Given the description of an element on the screen output the (x, y) to click on. 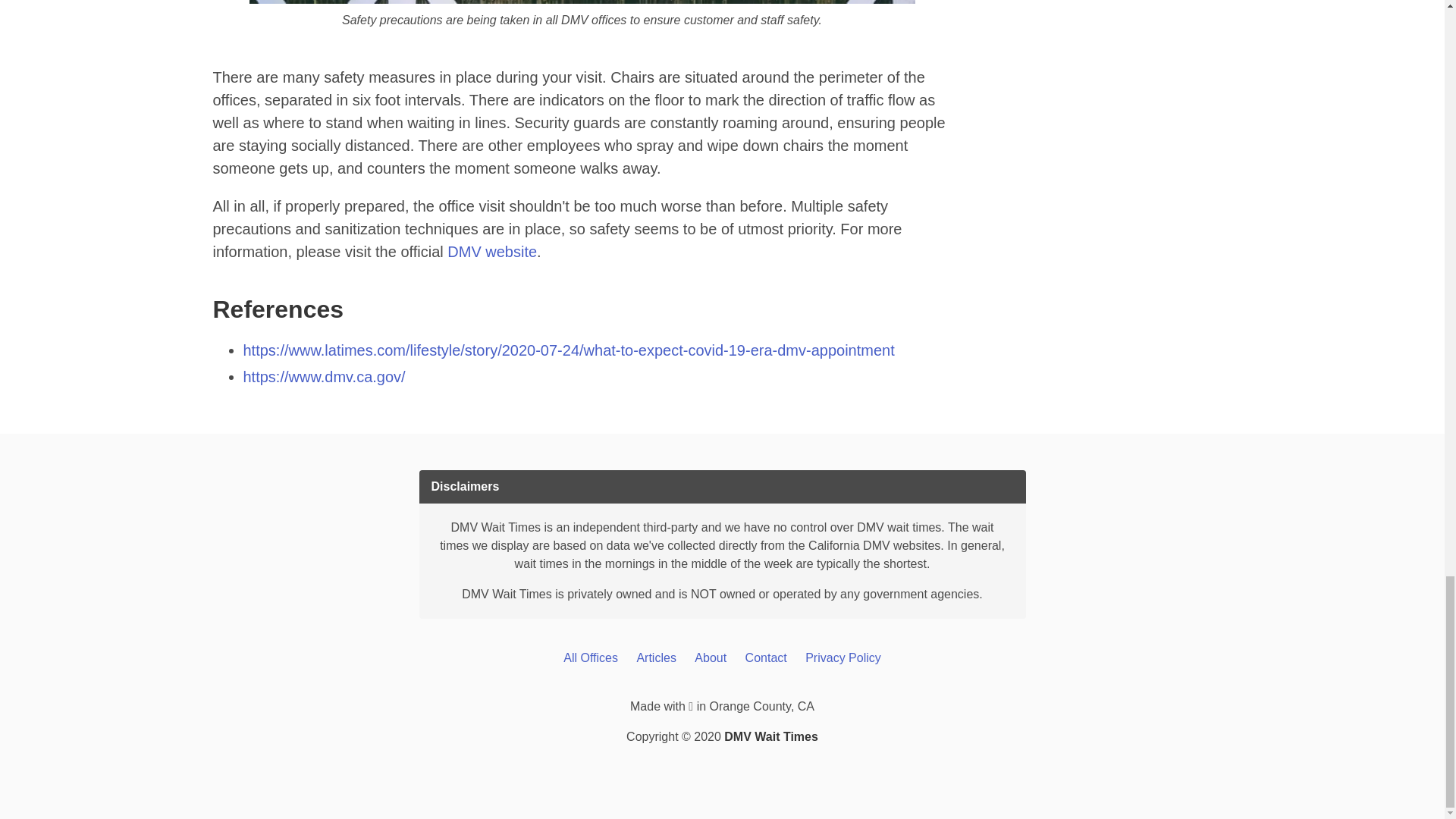
Articles (655, 657)
DMV Website (491, 251)
DMV website (491, 251)
Contact (766, 657)
All Offices (590, 657)
Privacy Policy (842, 657)
About (710, 657)
